Given the description of an element on the screen output the (x, y) to click on. 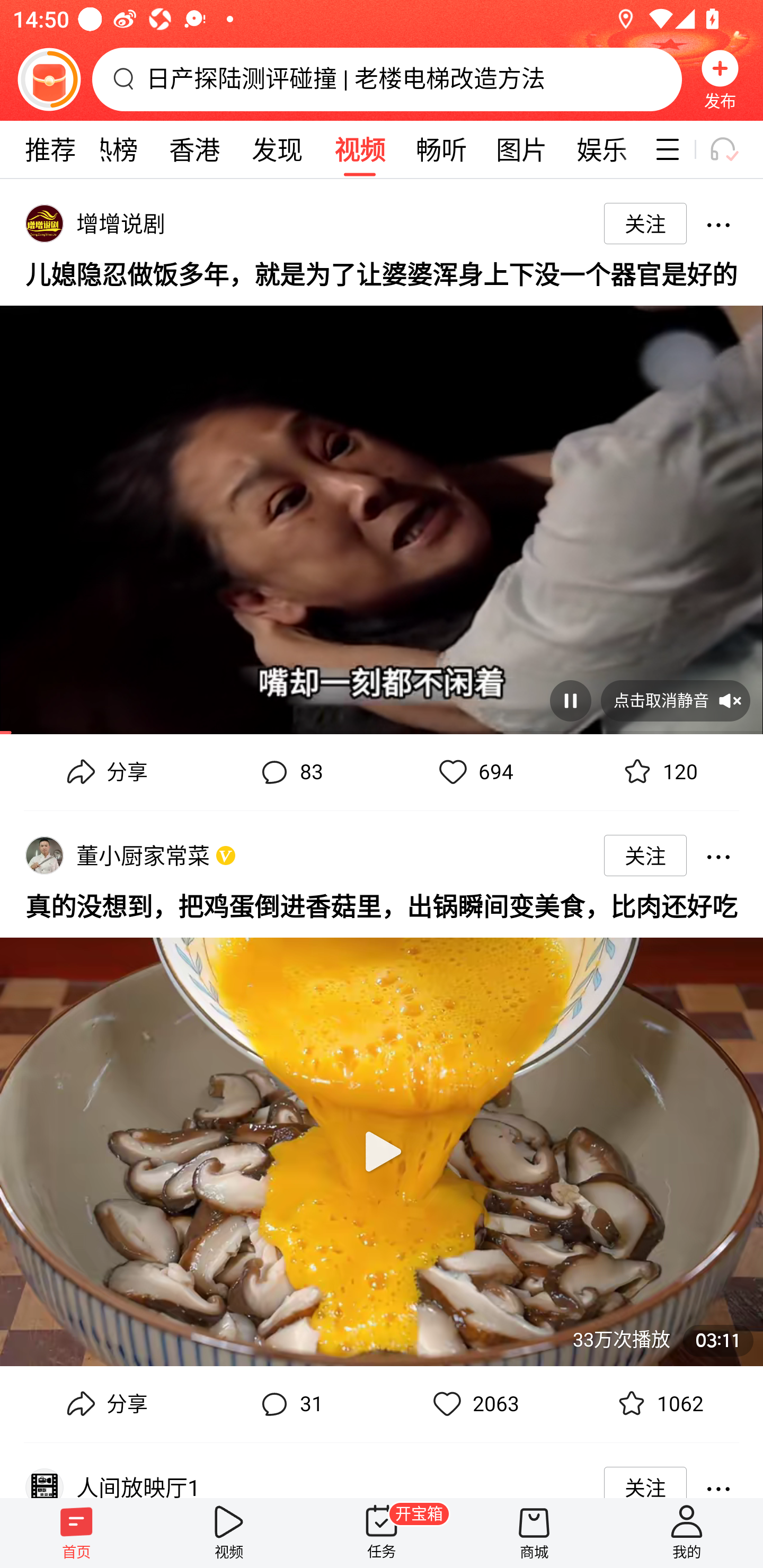
阅读赚金币 (48, 79)
日产探陆测评碰撞 | 老楼电梯改造方法 搜索框，日产探陆测评碰撞 | 老楼电梯改造方法 (387, 79)
发布 发布，按钮 (720, 78)
推荐 (49, 149)
香港 (194, 149)
发现 (276, 149)
视频 (359, 149)
畅听 (441, 149)
图片 (521, 149)
娱乐 (601, 149)
科技 (643, 149)
听一听开关 (732, 149)
关注 (645, 223)
更多 (718, 223)
增增说剧头像 (44, 223)
增增说剧 (123, 223)
儿媳隐忍做饭多年，就是为了让婆婆浑身上下没一个器官是好的 (381, 273)
视频播放器，双击唤起播放控制 点击取消静音 取消静音 (381, 512)
点击取消静音 取消静音 (675, 700)
分享 (104, 771)
评论,83 83 (288, 771)
收藏,120 120 (658, 771)
关注 (645, 855)
更多 (718, 855)
董小厨家常菜头像 (44, 854)
董小厨家常菜 董小厨家常菜  已认证 (145, 855)
真的没想到，把鸡蛋倒进香菇里，出锅瞬间变美食，比肉还好吃 (381, 905)
播放视频 33万次播放 (381, 1144)
分享 (104, 1403)
评论,31 31 (288, 1403)
收藏,1062 1062 (658, 1403)
关注 (645, 1477)
更多 (718, 1477)
首页 (76, 1532)
视频 (228, 1532)
任务 开宝箱 (381, 1532)
商城 (533, 1532)
我的 (686, 1532)
